Given the description of an element on the screen output the (x, y) to click on. 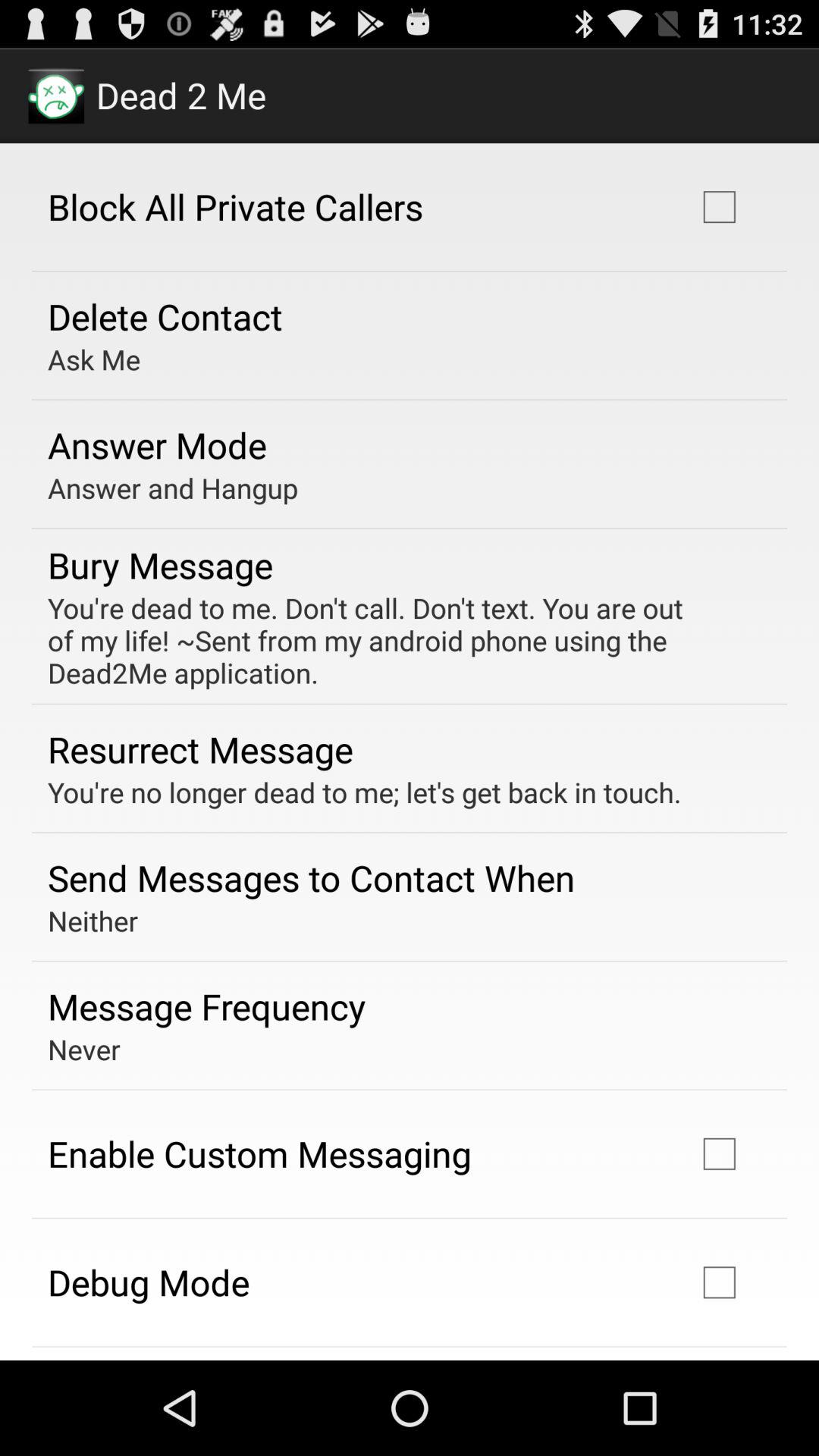
click on check box right to block all private callers (719, 206)
